Given the description of an element on the screen output the (x, y) to click on. 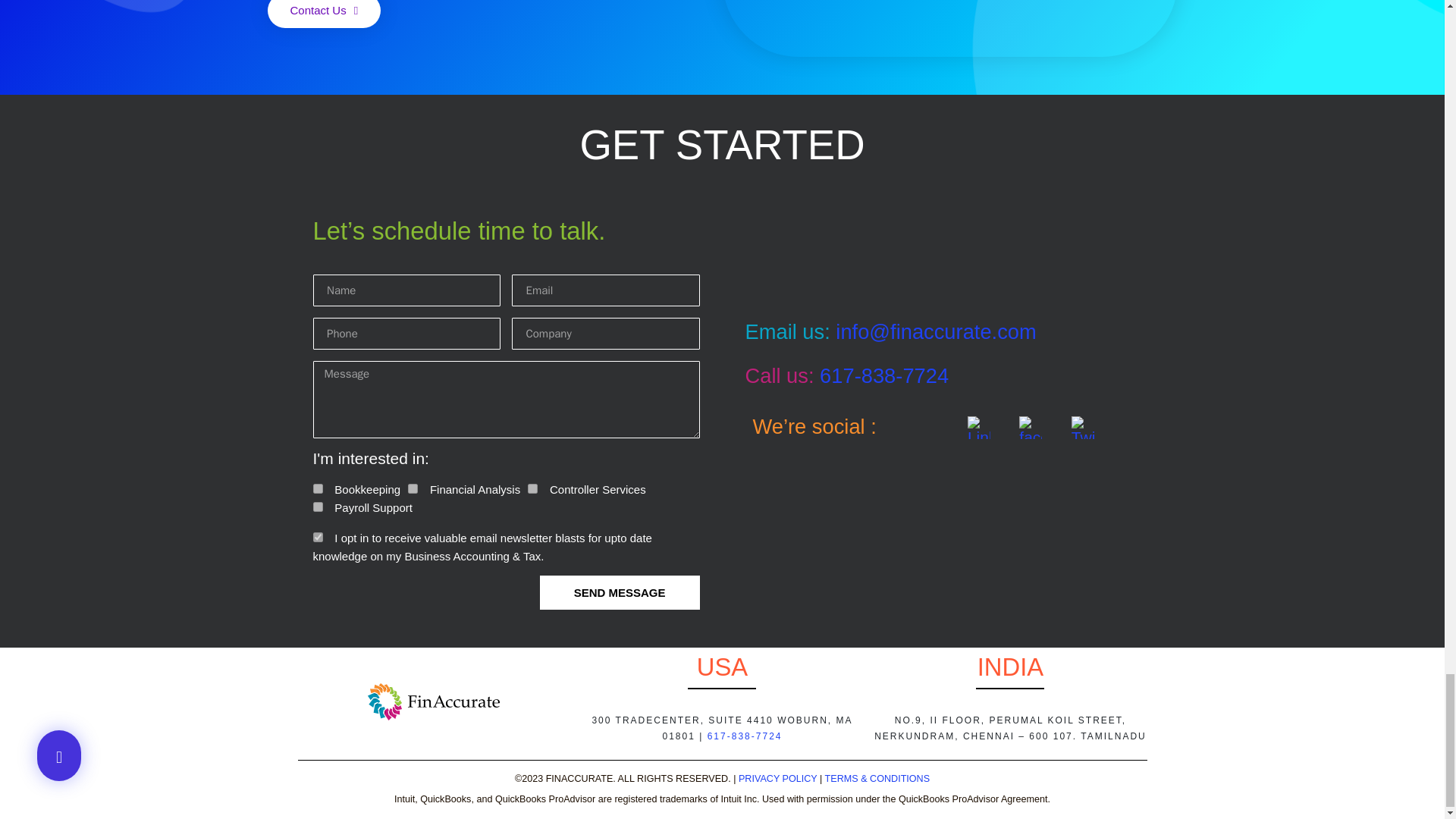
facebook icon (1030, 427)
Payroll Support (317, 506)
Bookkeeping (317, 488)
on (317, 537)
Twitter (1082, 427)
LinkedIn-Icon (979, 427)
Financial Analysis (412, 488)
Controller Services (532, 488)
